Given the description of an element on the screen output the (x, y) to click on. 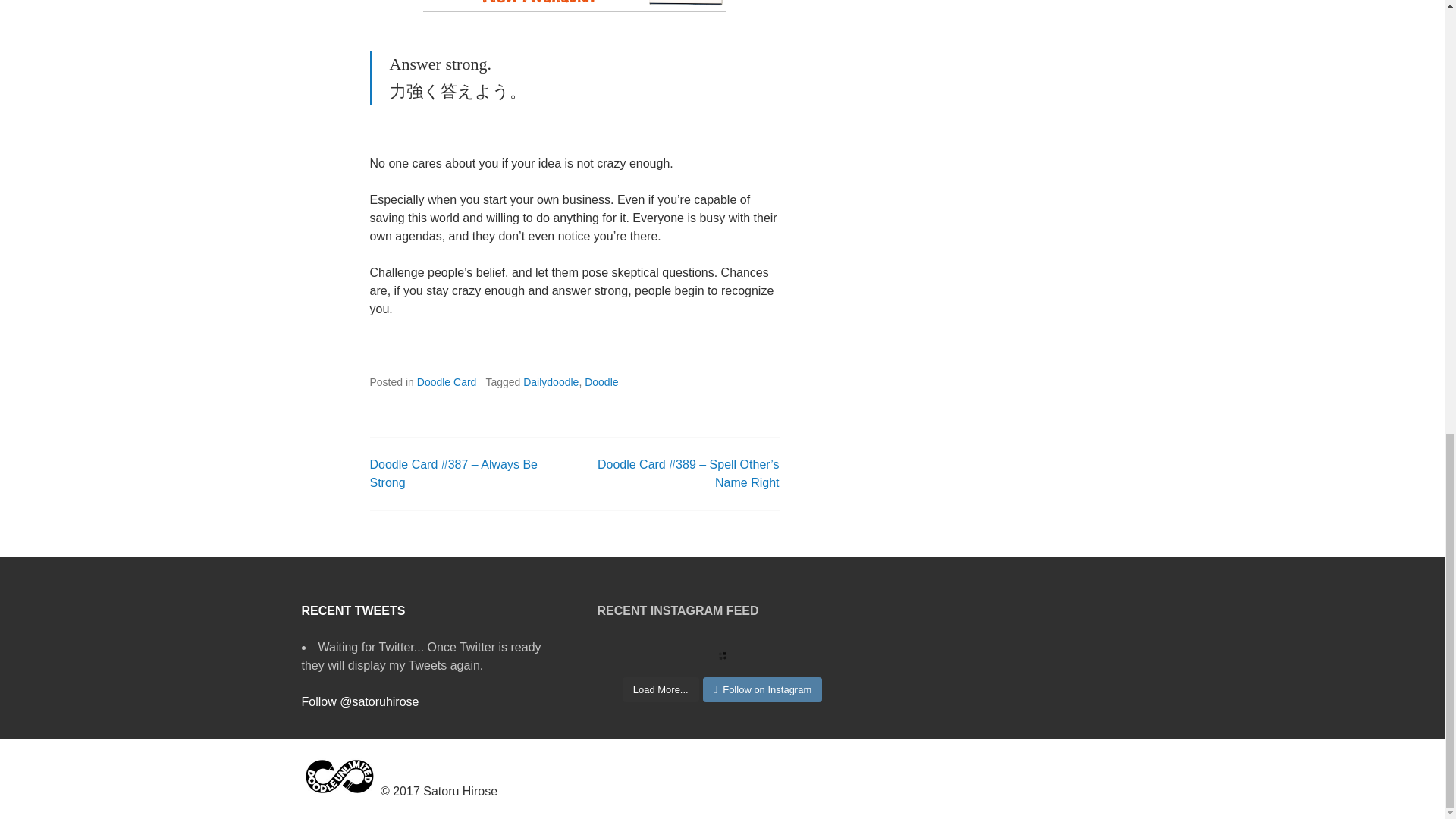
Load More... (660, 689)
Dailydoodle (550, 381)
Doodle (601, 381)
Follow on Instagram (762, 689)
RECENT TWEETS (353, 610)
Doodle Card (446, 381)
